Given the description of an element on the screen output the (x, y) to click on. 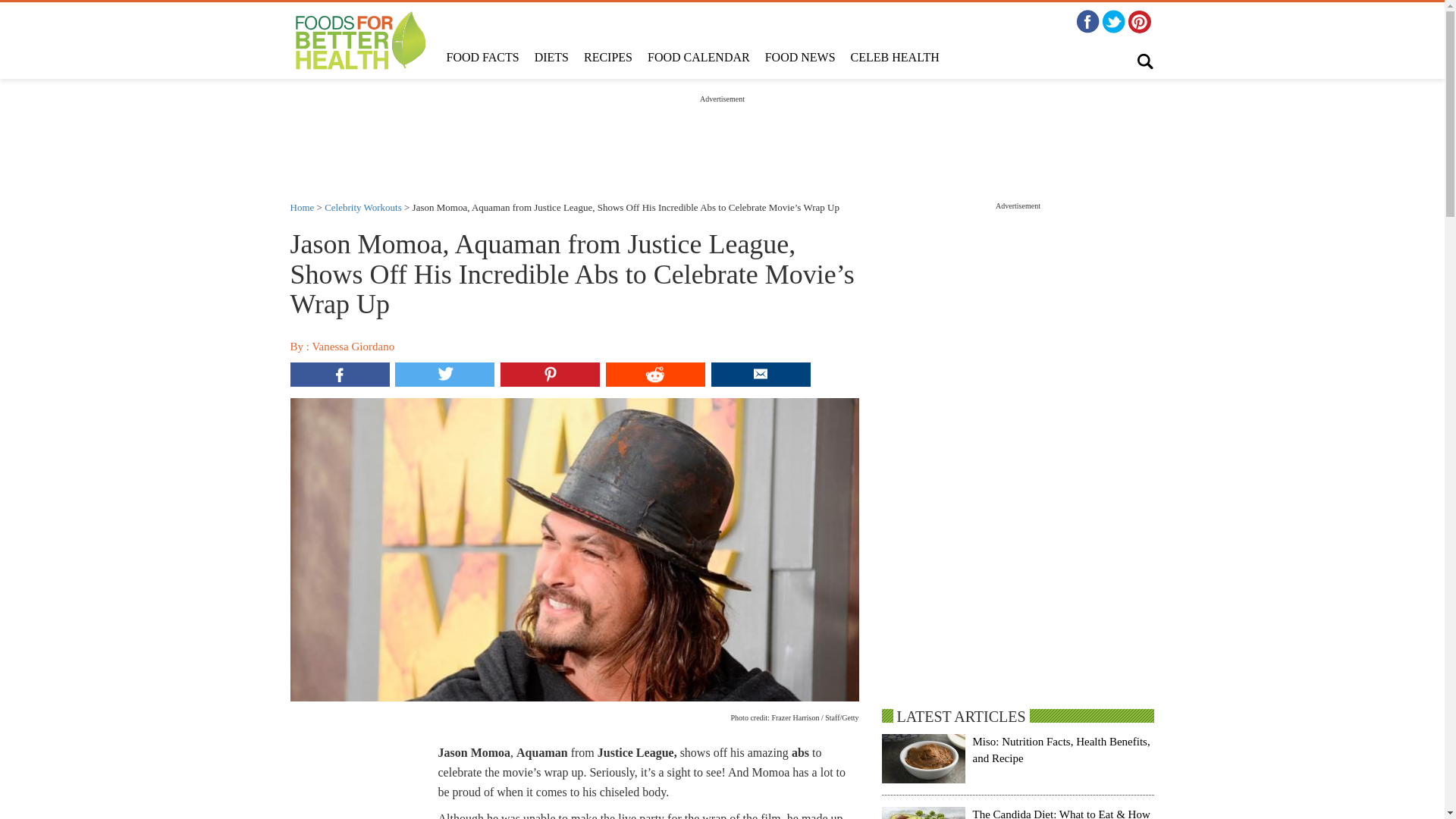
FOOD NEWS (800, 57)
Celebrity Workouts (362, 206)
DIETS (551, 57)
RECIPES (608, 57)
CELEB HEALTH (895, 57)
FOOD CALENDAR (698, 57)
FOOD FACTS (481, 57)
Advertisement (721, 138)
Posts by Vanessa Giordano (352, 346)
Home (301, 206)
Miso: Nutrition Facts, Health Benefits, and Recipe (1061, 749)
Vanessa Giordano (352, 346)
